Given the description of an element on the screen output the (x, y) to click on. 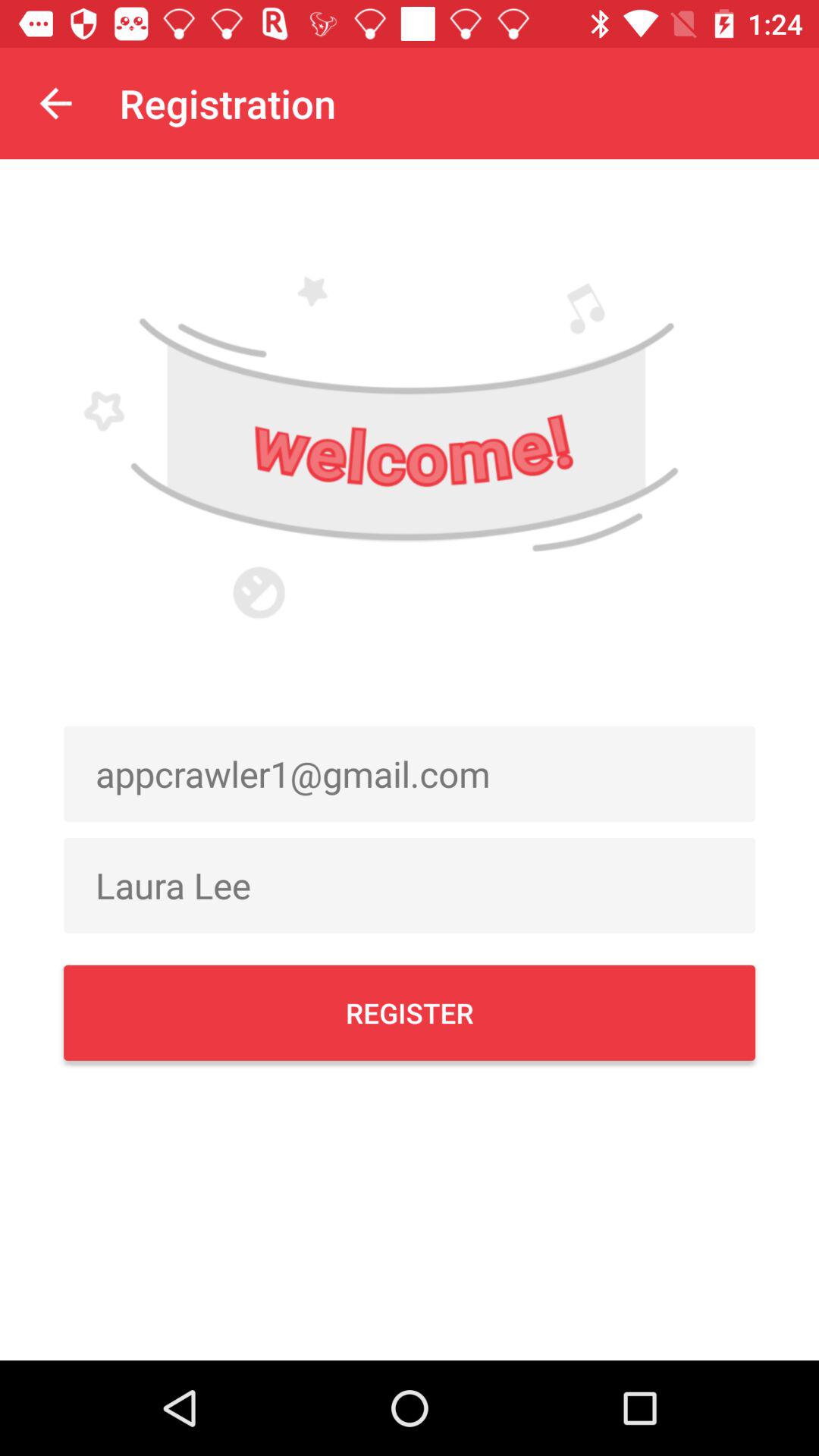
launch the laura lee (409, 885)
